Given the description of an element on the screen output the (x, y) to click on. 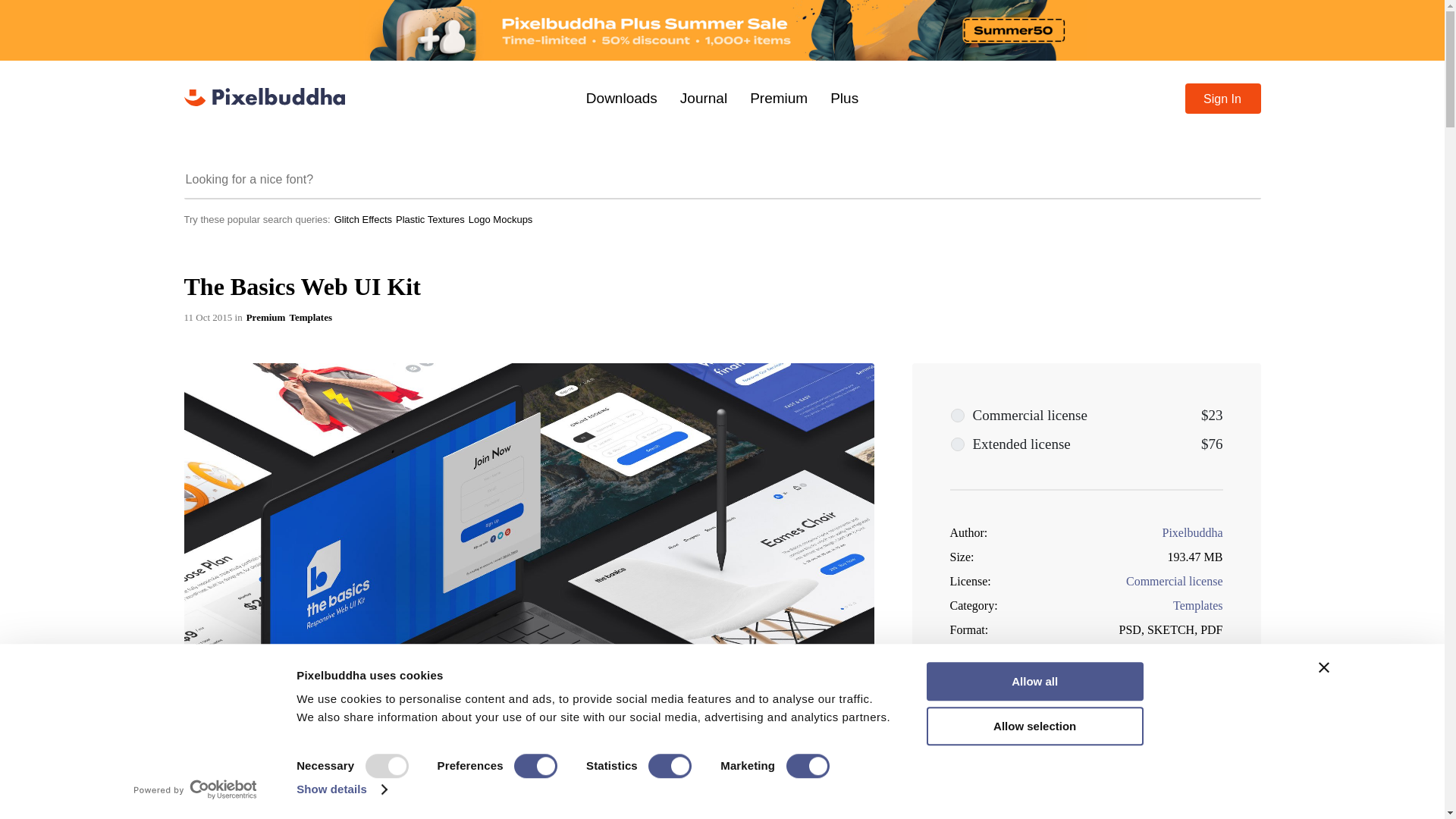
Show details (341, 789)
